Given the description of an element on the screen output the (x, y) to click on. 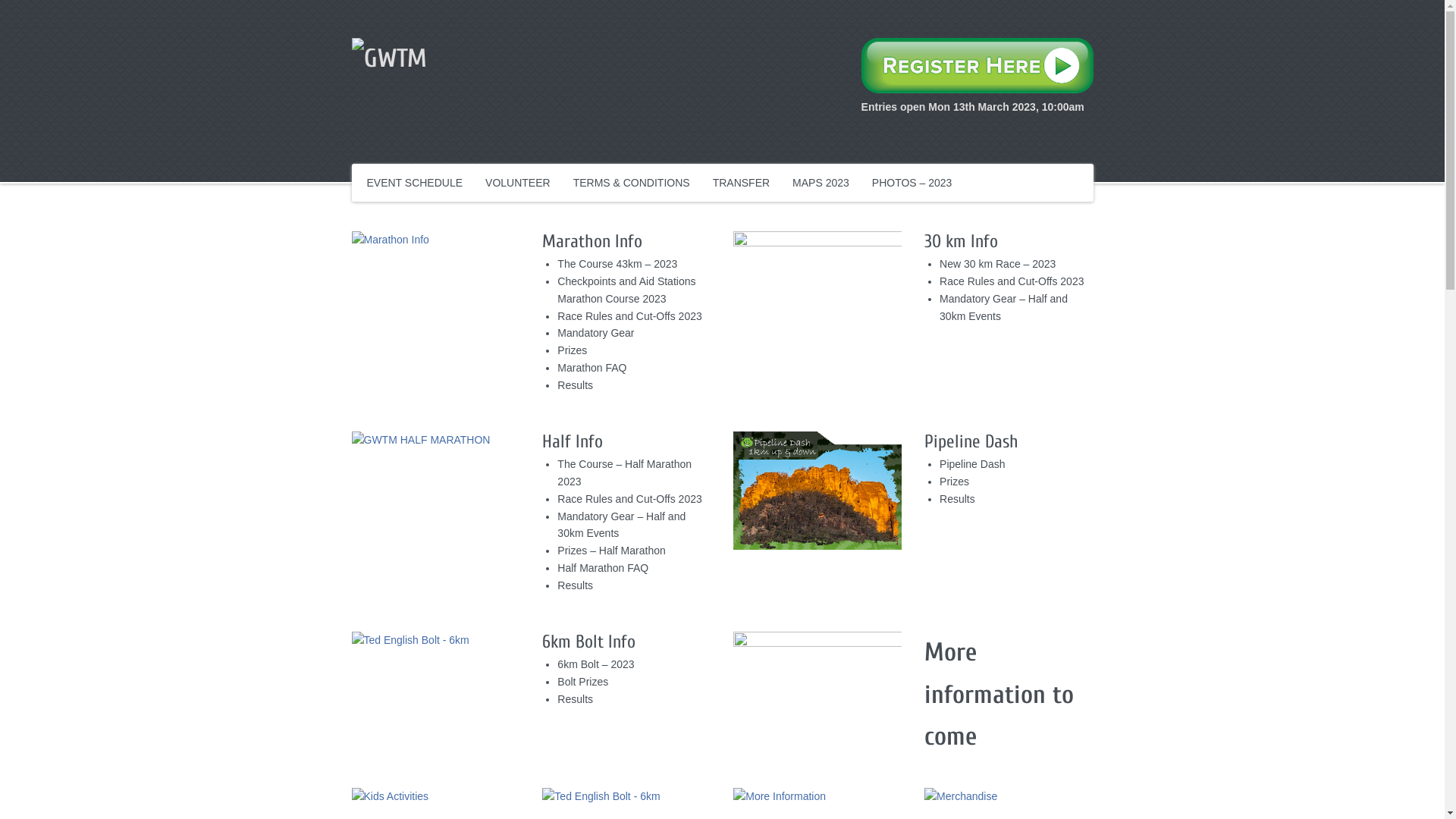
Results Element type: text (575, 585)
Half Marathon FAQ Element type: text (602, 567)
MAPS 2023 Element type: text (820, 182)
TRANSFER Element type: text (741, 182)
TERMS & CONDITIONS Element type: text (631, 182)
Prizes Element type: text (571, 350)
Bolt Prizes Element type: text (582, 681)
Marathon FAQ Element type: text (591, 367)
Mandatory Gear Element type: text (595, 332)
Results Element type: text (575, 385)
Results Element type: text (575, 699)
Race Rules and Cut-Offs 2023 Element type: text (629, 316)
VOLUNTEER Element type: text (517, 182)
Race Rules and Cut-Offs 2023 Element type: text (1011, 281)
Pipeline Dash Element type: text (971, 464)
Checkpoints and Aid Stations Marathon Course 2023 Element type: text (626, 289)
Race Rules and Cut-Offs 2023 Element type: text (629, 498)
Results Element type: text (957, 498)
Skip to primary content Element type: text (421, 174)
Prizes Element type: text (954, 481)
EVENT SCHEDULE Element type: text (414, 182)
